Given the description of an element on the screen output the (x, y) to click on. 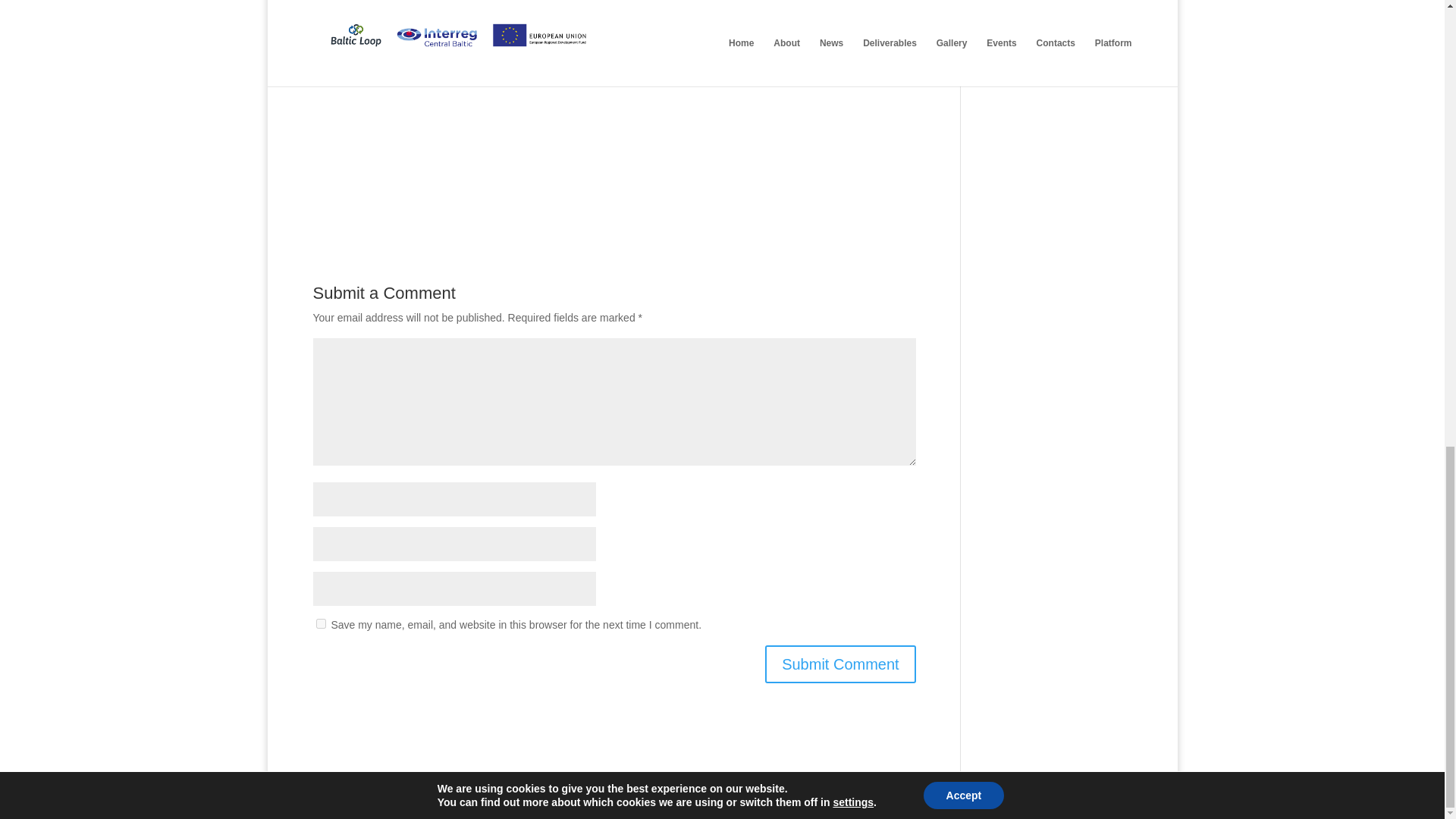
HERE (692, 47)
yes (319, 623)
Submit Comment (840, 664)
Submit Comment (840, 664)
